Given the description of an element on the screen output the (x, y) to click on. 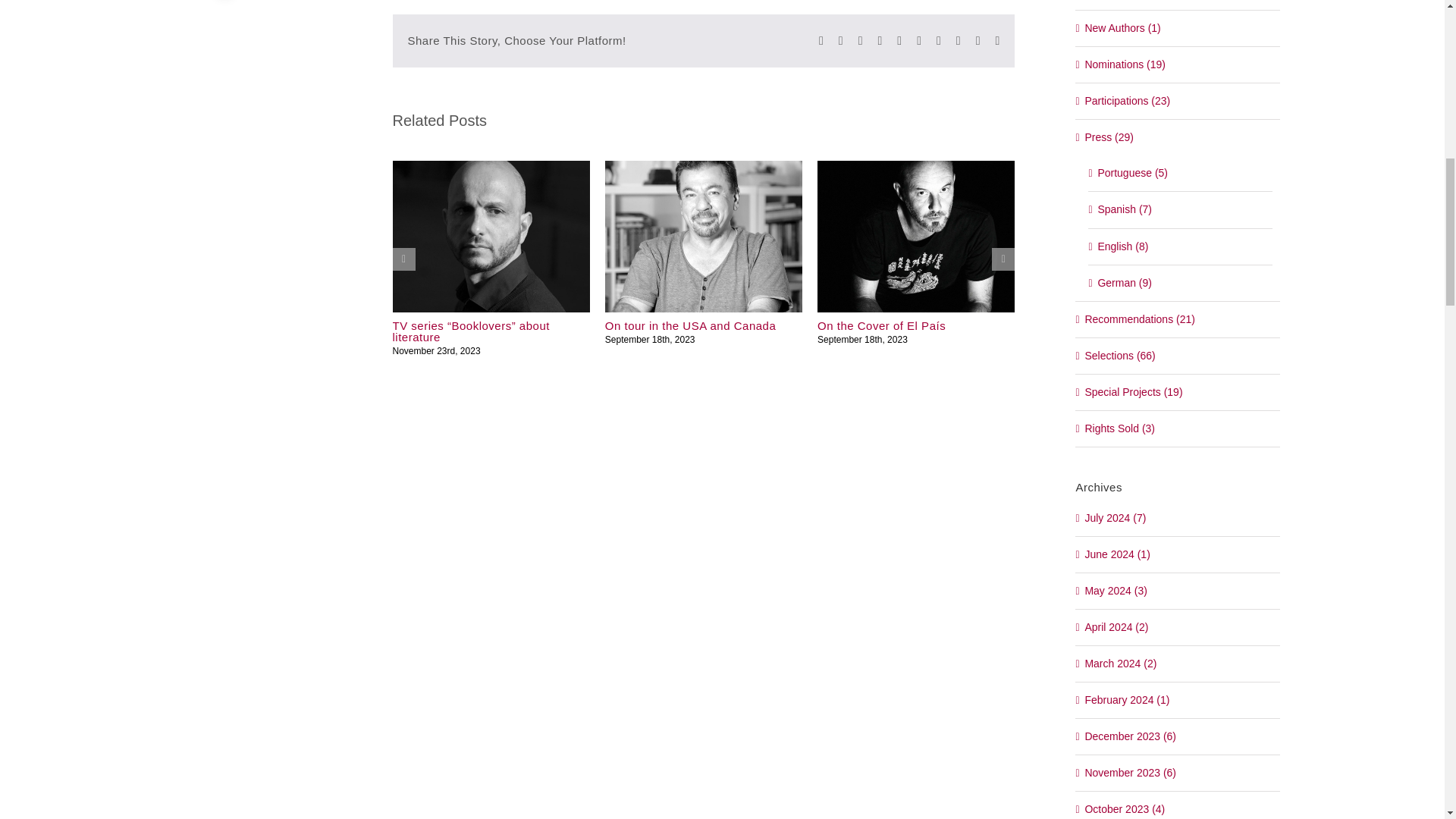
On tour in the USA and Canada (690, 325)
